Given the description of an element on the screen output the (x, y) to click on. 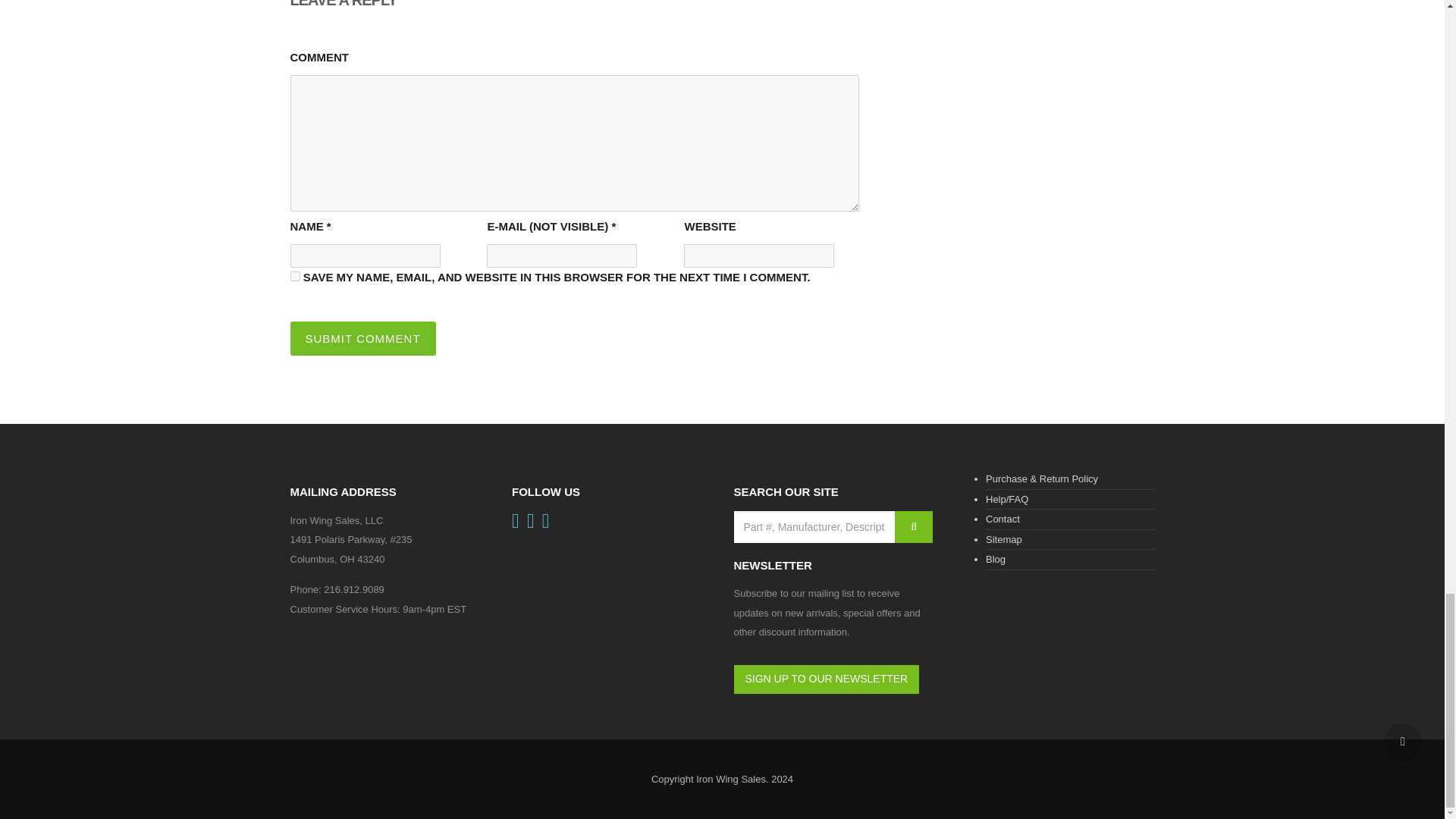
Submit Comment (362, 338)
yes (294, 276)
Submit Comment (362, 338)
